Given the description of an element on the screen output the (x, y) to click on. 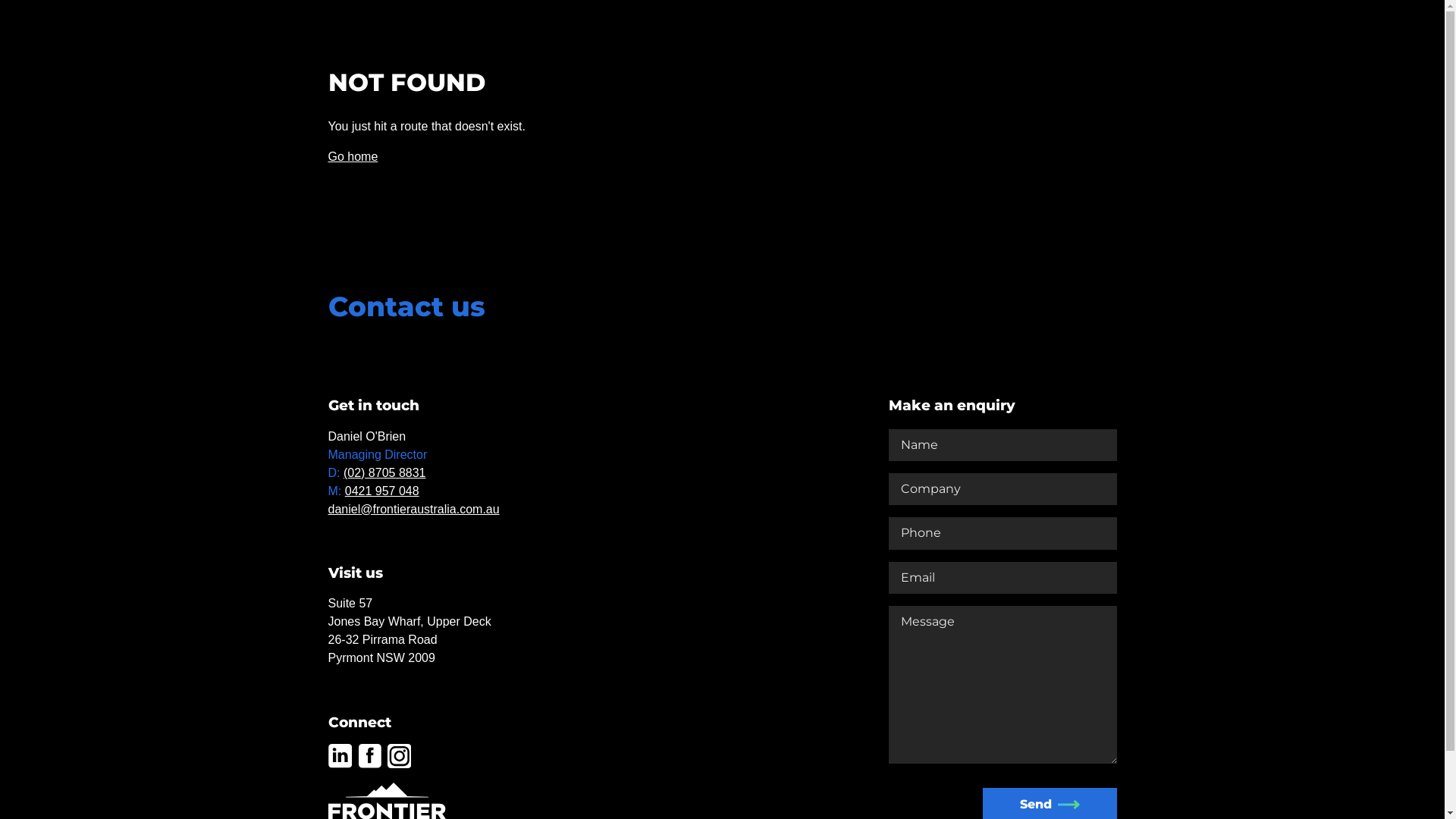
daniel@frontieraustralia.com.au Element type: text (412, 508)
Google Map Element type: hover (702, 532)
0421 957 048 Element type: text (382, 490)
Go home Element type: text (352, 156)
(02) 8705 8831 Element type: text (384, 472)
